Given the description of an element on the screen output the (x, y) to click on. 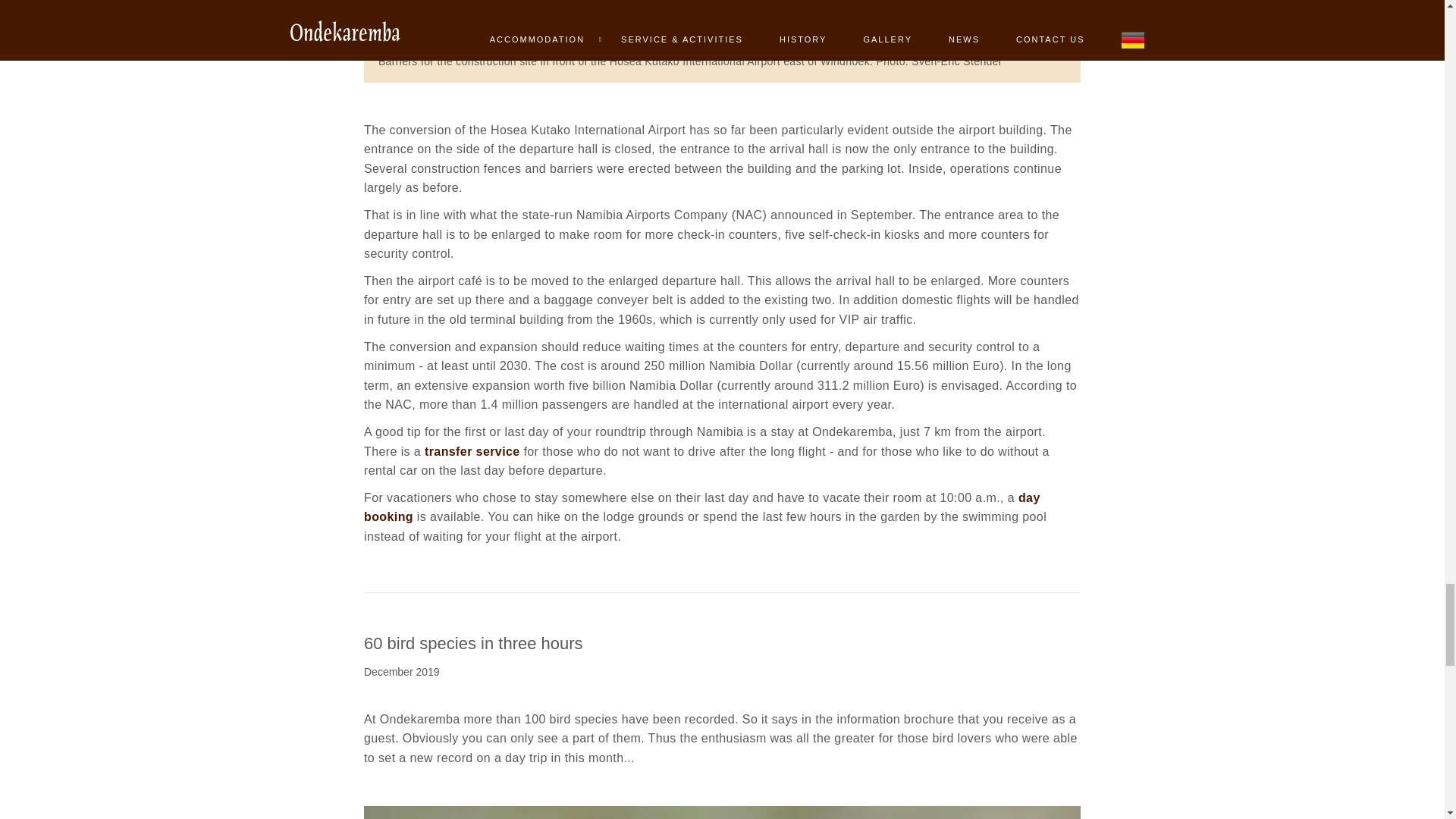
transfer service (469, 451)
day booking (702, 507)
